Given the description of an element on the screen output the (x, y) to click on. 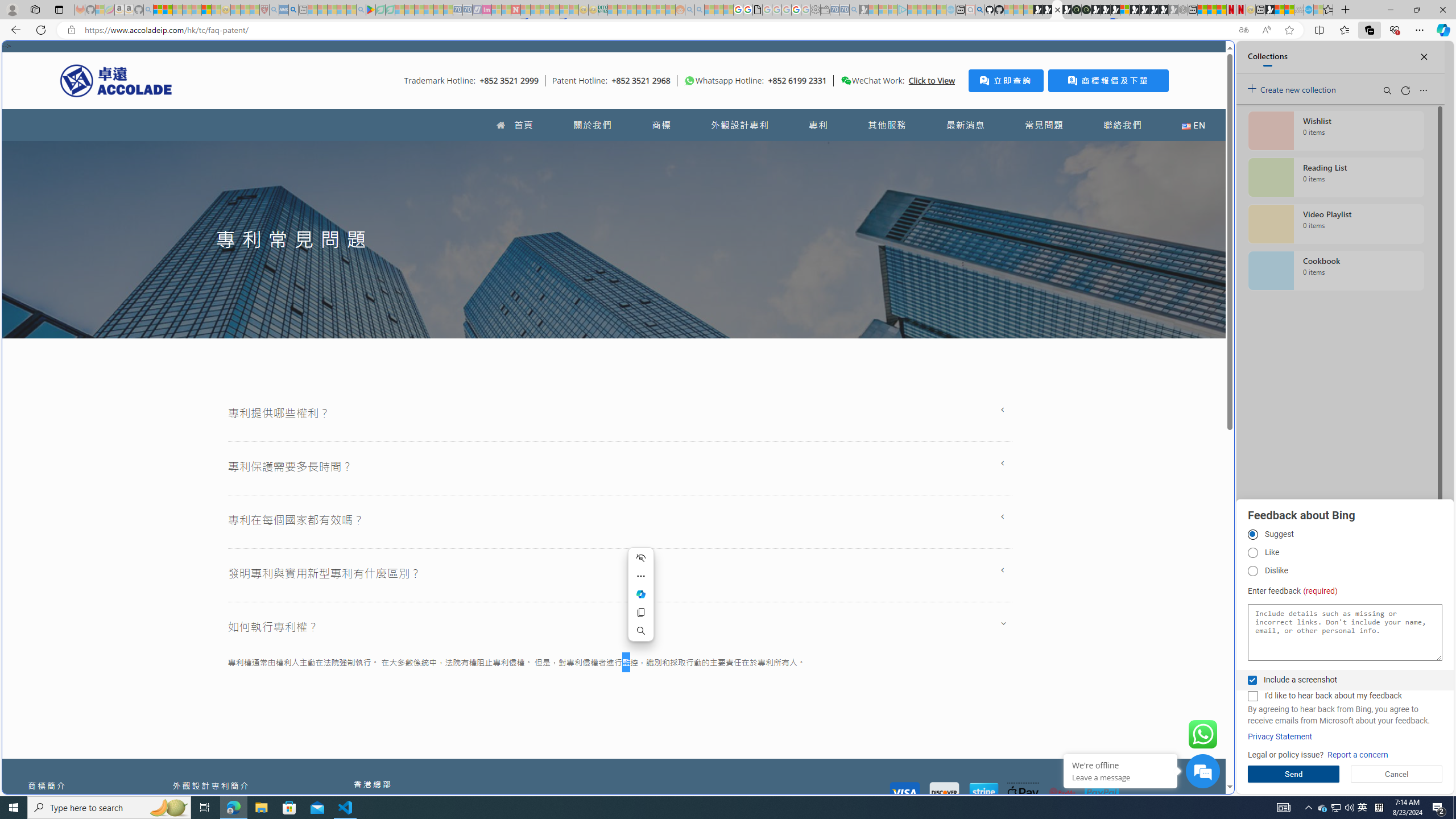
Future Focus Report 2024 (1085, 9)
Dislike (1252, 570)
Include a screenshot (1251, 679)
Privacy Statement (1280, 737)
Microsoft Start - Sleeping (930, 9)
MSN (1269, 9)
Microsoft Start Gaming - Sleeping (863, 9)
